Given the description of an element on the screen output the (x, y) to click on. 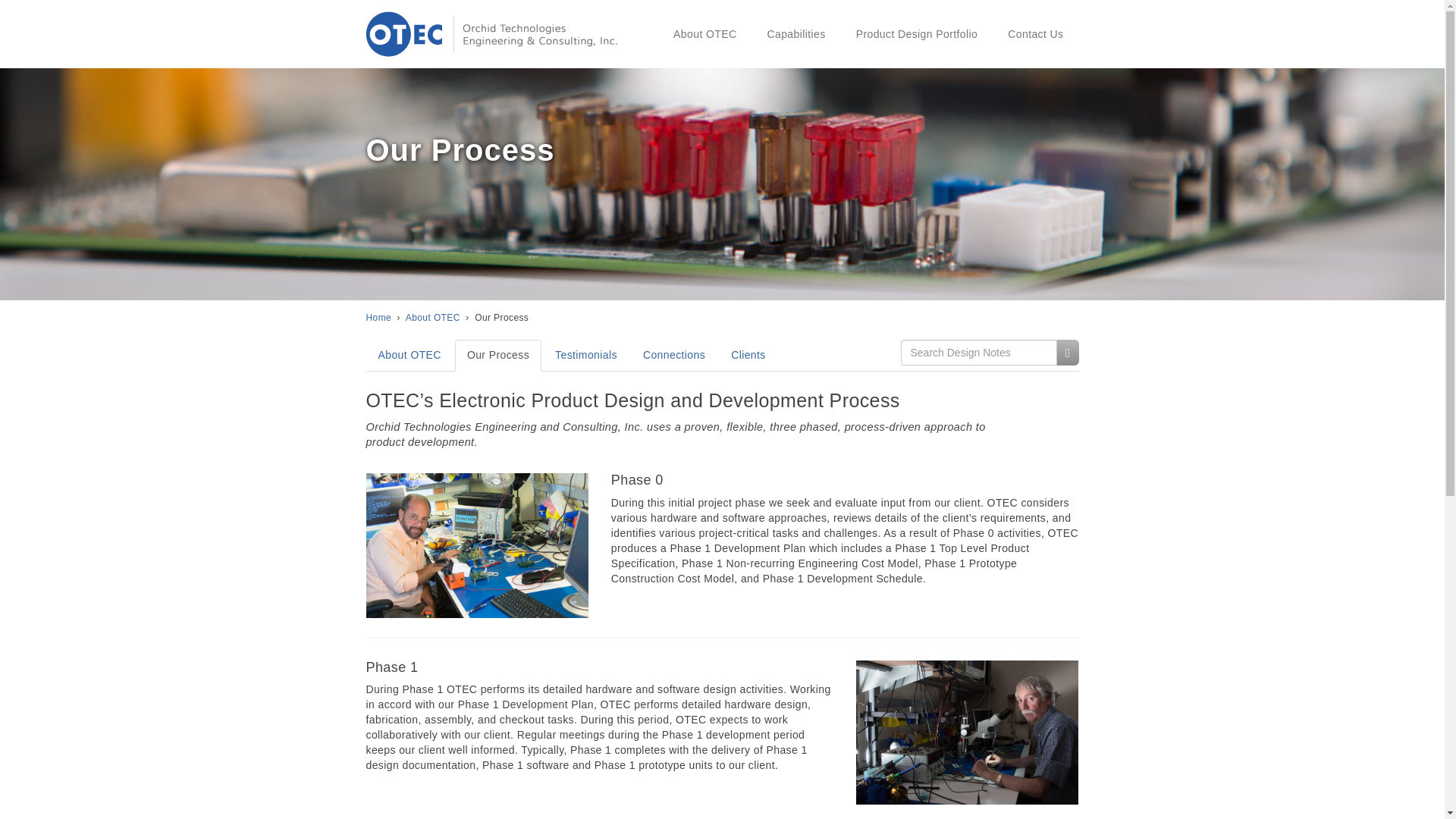
Go to Orchid Technologies. (378, 317)
Product Design Portfolio (916, 33)
Our Process (497, 355)
Capabilities (795, 33)
About OTEC (704, 33)
Go to About OTEC. (433, 317)
About OTEC (433, 317)
Testimonials (585, 355)
Clients (748, 355)
Contact Us (1035, 33)
About OTEC (408, 355)
Connections (673, 355)
Home (378, 317)
